Given the description of an element on the screen output the (x, y) to click on. 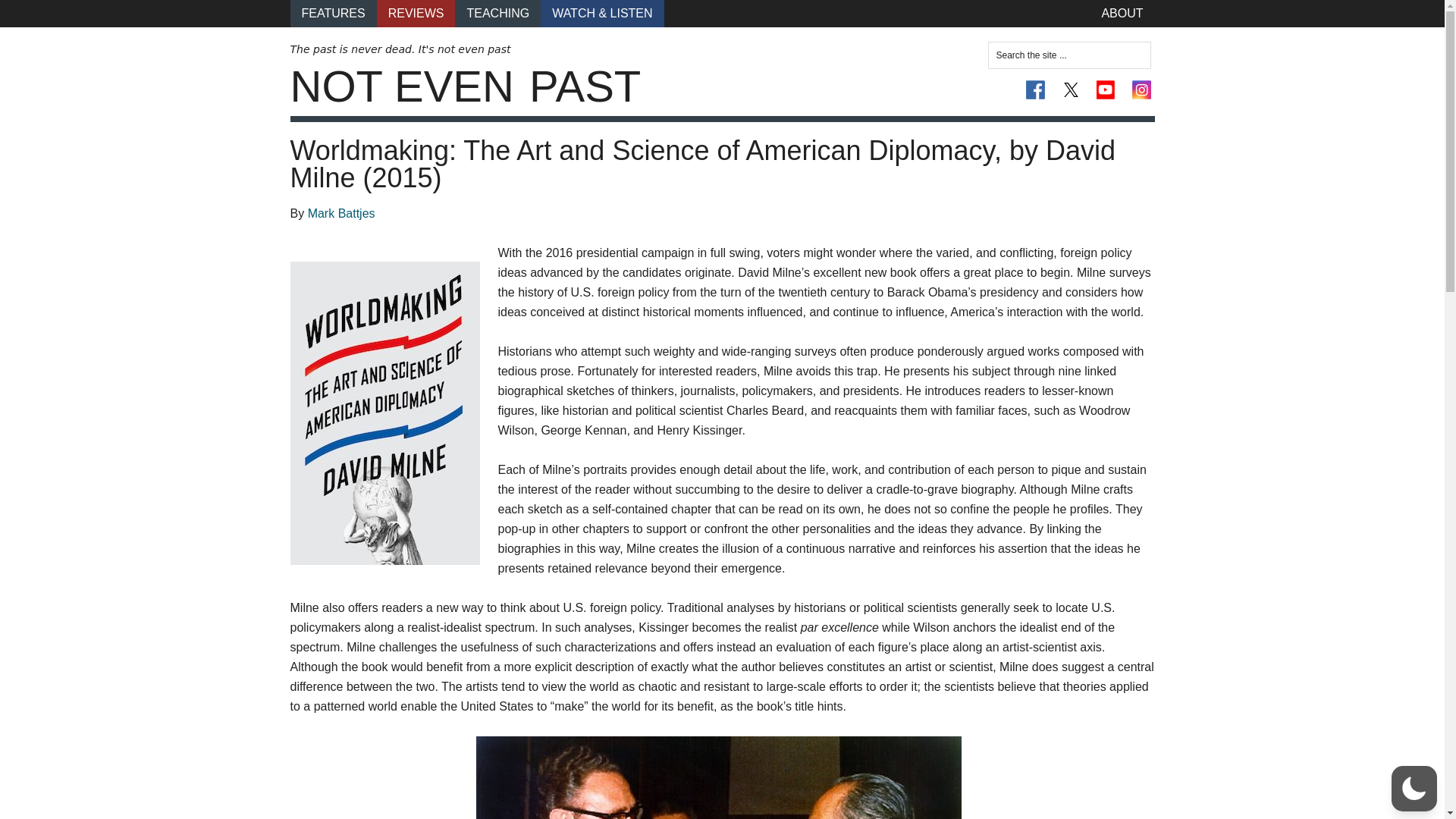
NOT EVEN PAST (464, 85)
On Facebook (1035, 89)
FEATURES (332, 13)
ABOUT (1121, 13)
On Twitter (1070, 89)
YouTube Channel (1105, 89)
TEACHING (497, 13)
Instagram (1140, 89)
